Given the description of an element on the screen output the (x, y) to click on. 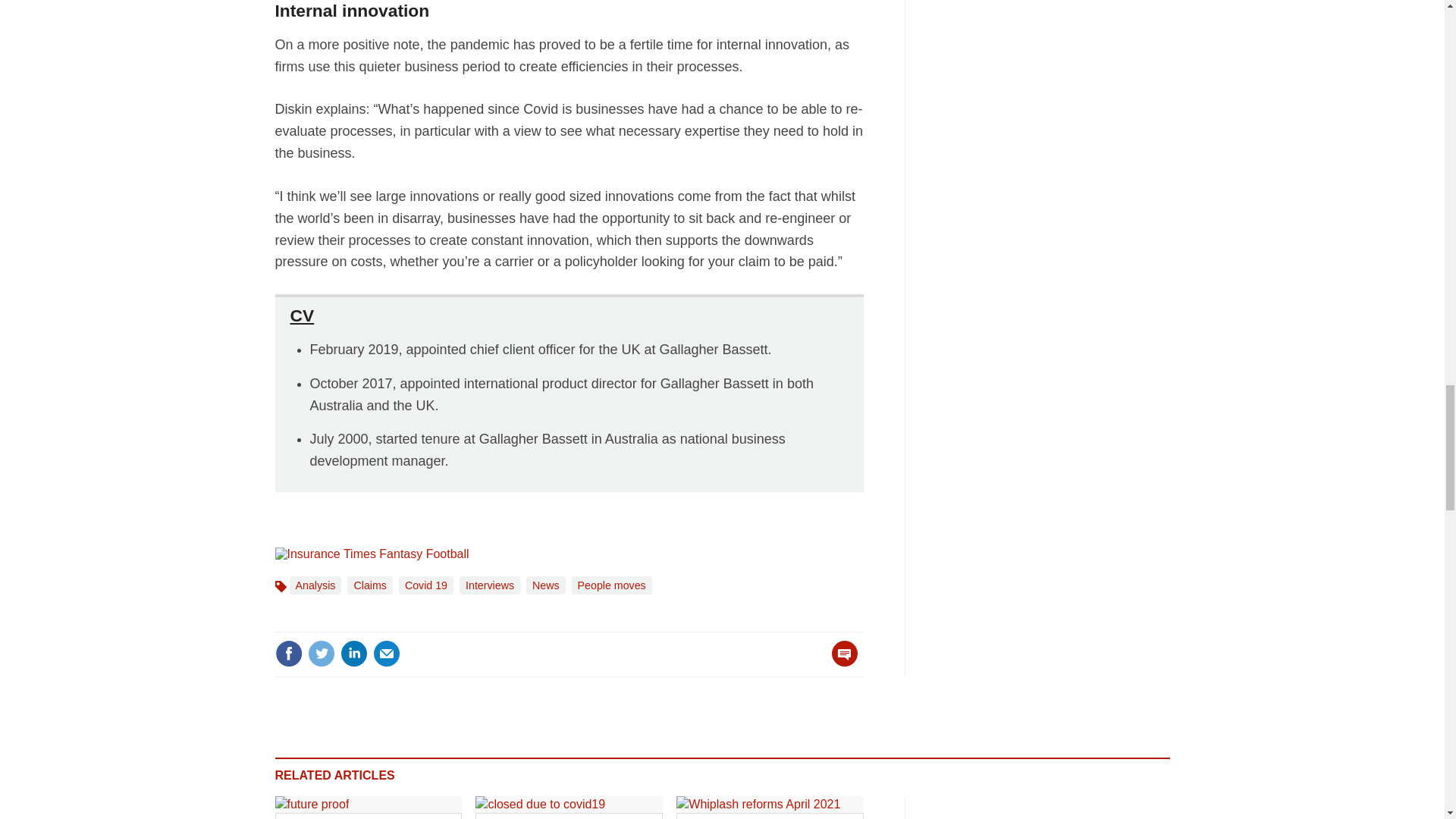
Share this on Twitter (320, 653)
No comments (840, 662)
Email this article (386, 653)
Share this on Facebook (288, 653)
Share this on Linked in (352, 653)
